Given the description of an element on the screen output the (x, y) to click on. 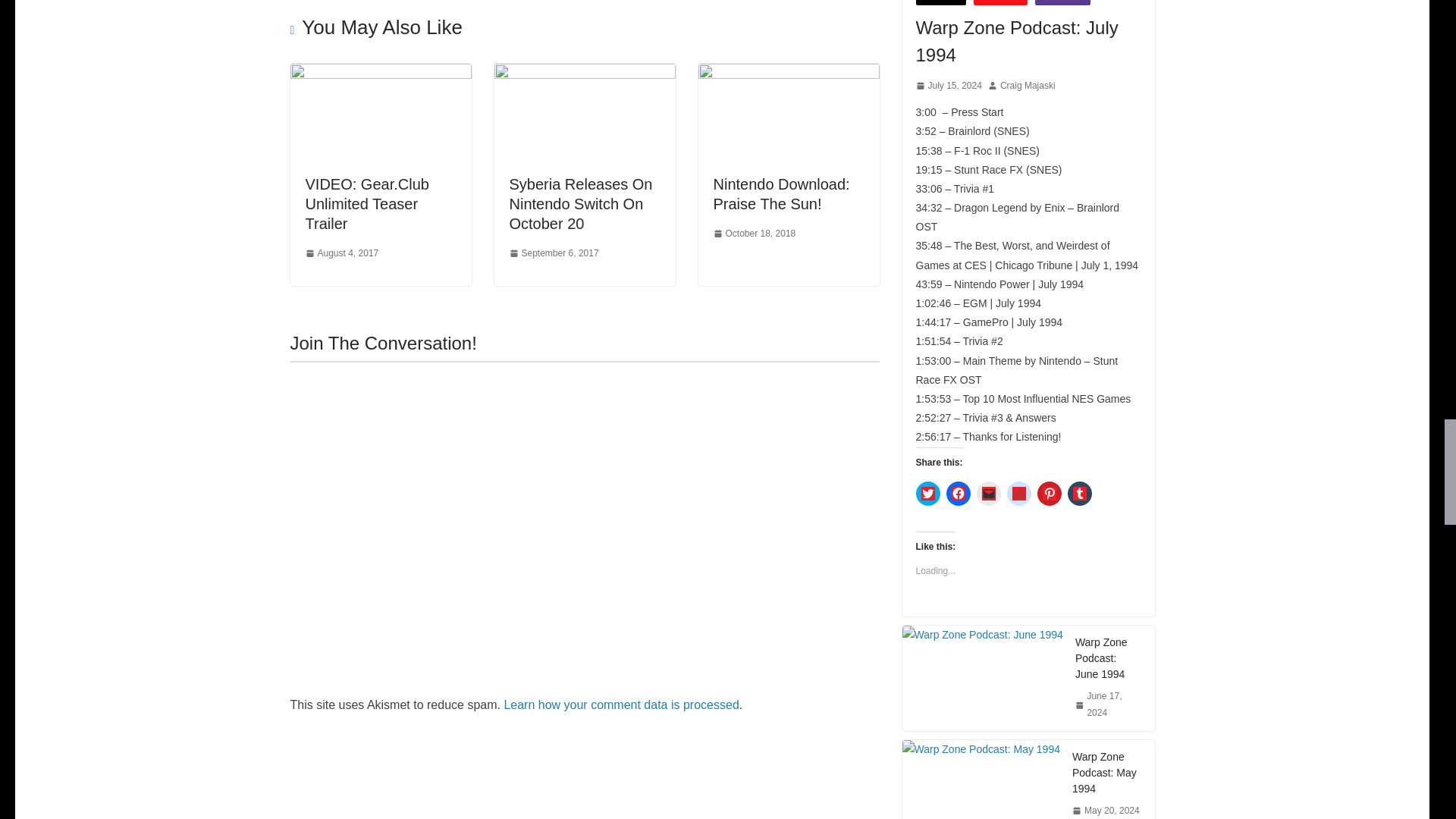
4:51 PM (341, 253)
VIDEO: Gear.Club Unlimited Teaser Trailer (379, 73)
Syberia Releases On Nintendo Switch On October 20 (585, 73)
VIDEO: Gear.Club Unlimited Teaser Trailer (366, 203)
